Given the description of an element on the screen output the (x, y) to click on. 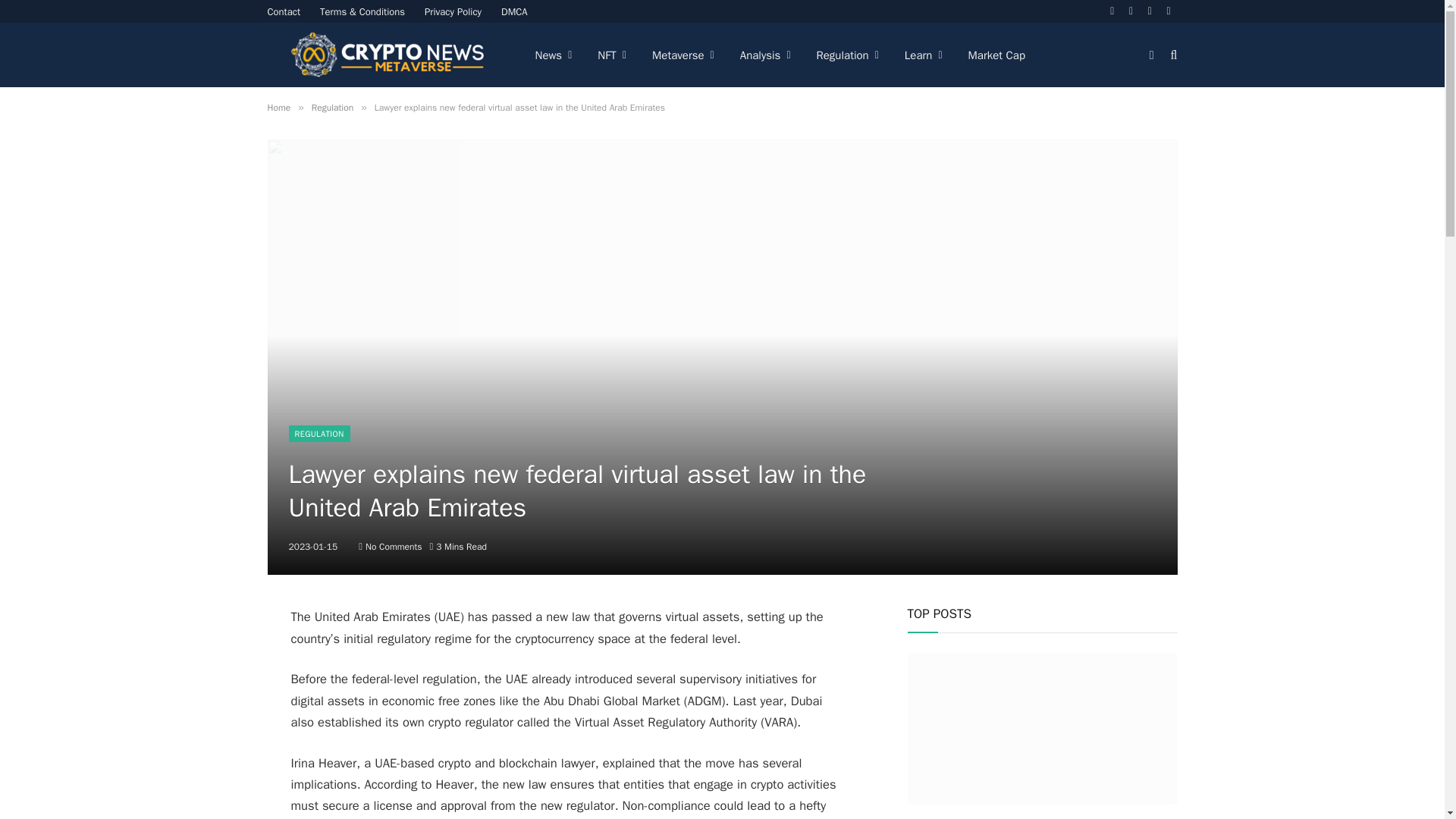
News (553, 54)
Contact (284, 11)
DMCA (514, 11)
CryptoNewsMetaverse (388, 54)
Privacy Policy (453, 11)
